Given the description of an element on the screen output the (x, y) to click on. 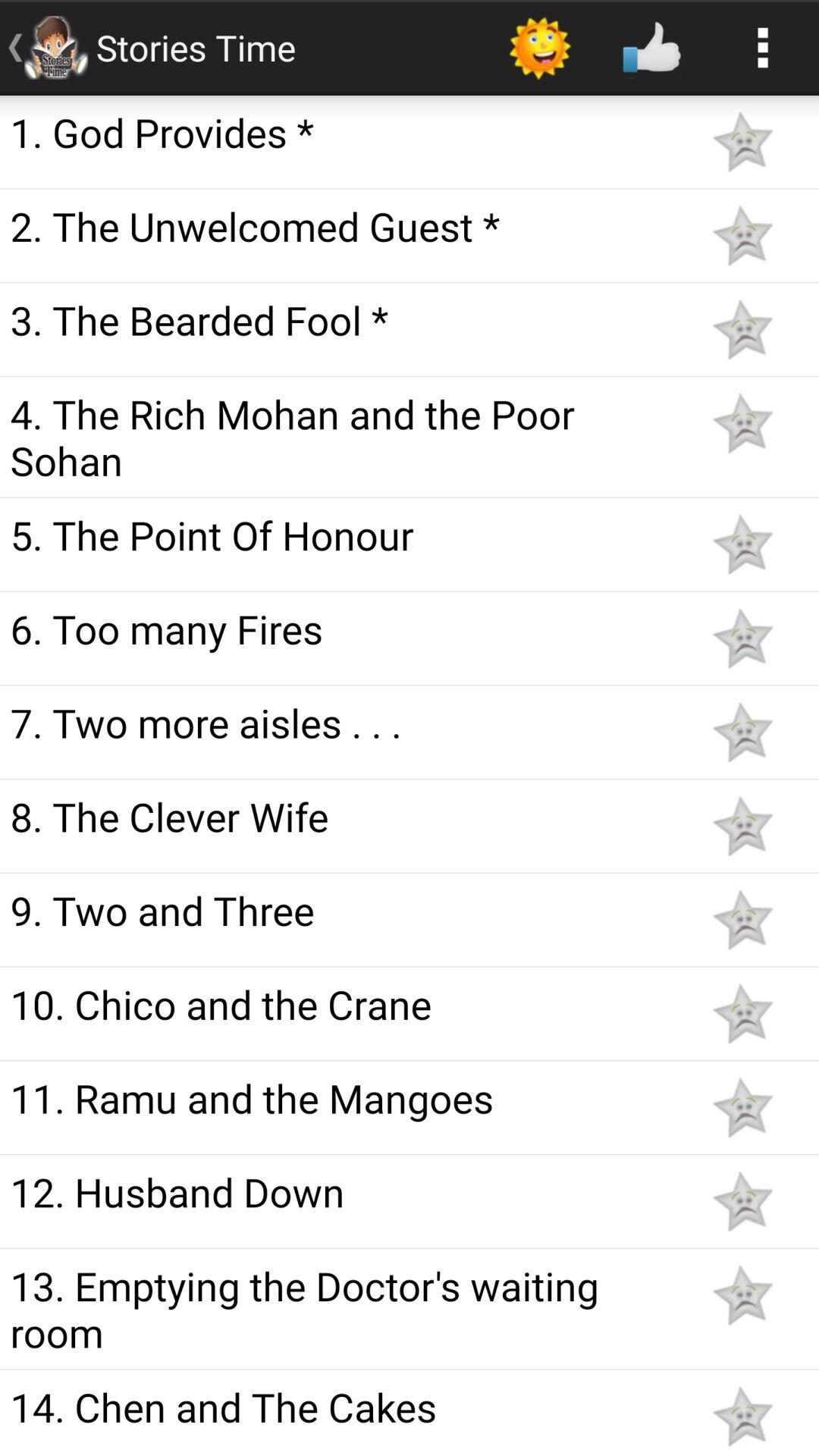
bookmark story (742, 825)
